Given the description of an element on the screen output the (x, y) to click on. 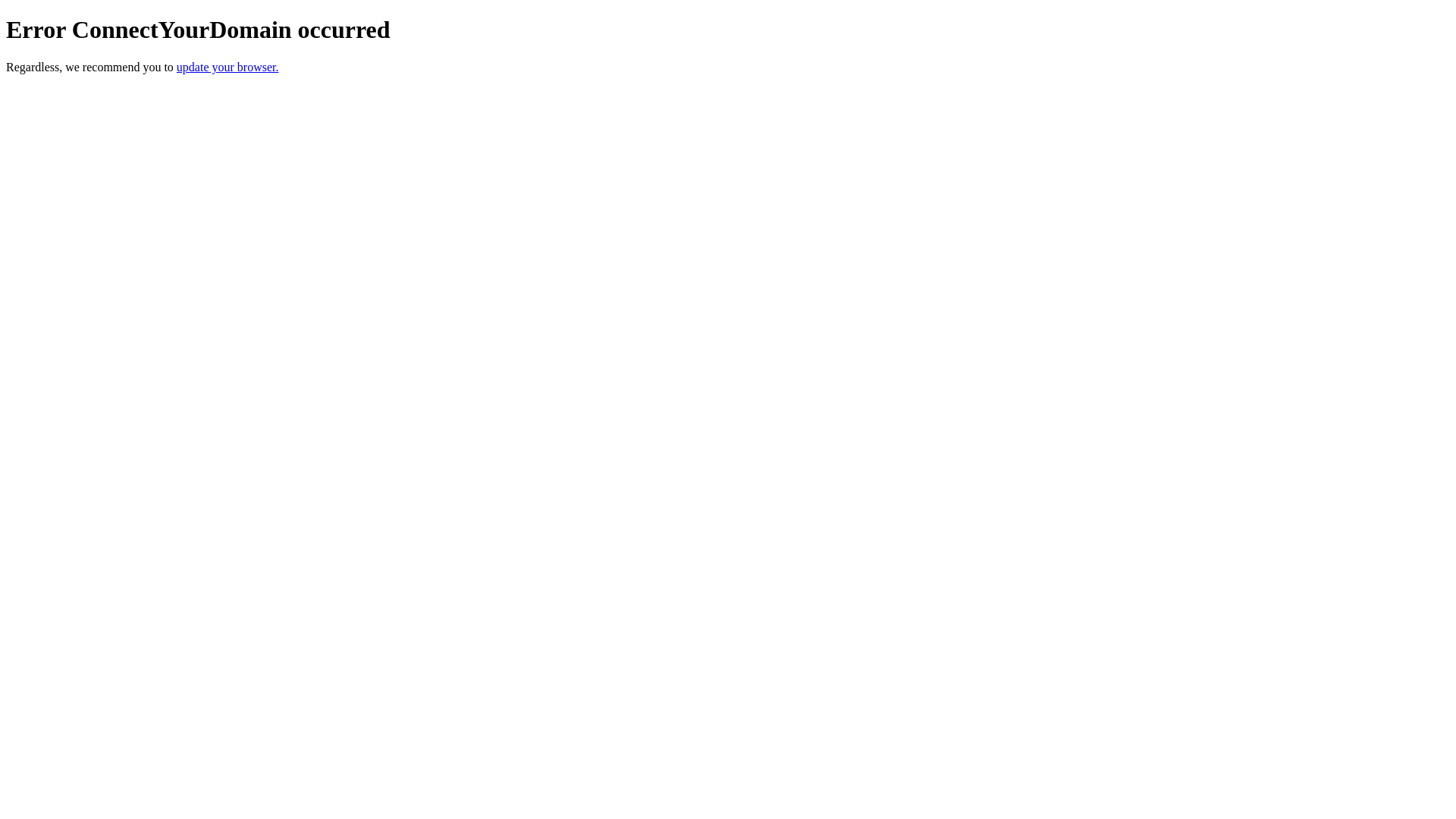
update your browser. Element type: text (227, 66)
